Given the description of an element on the screen output the (x, y) to click on. 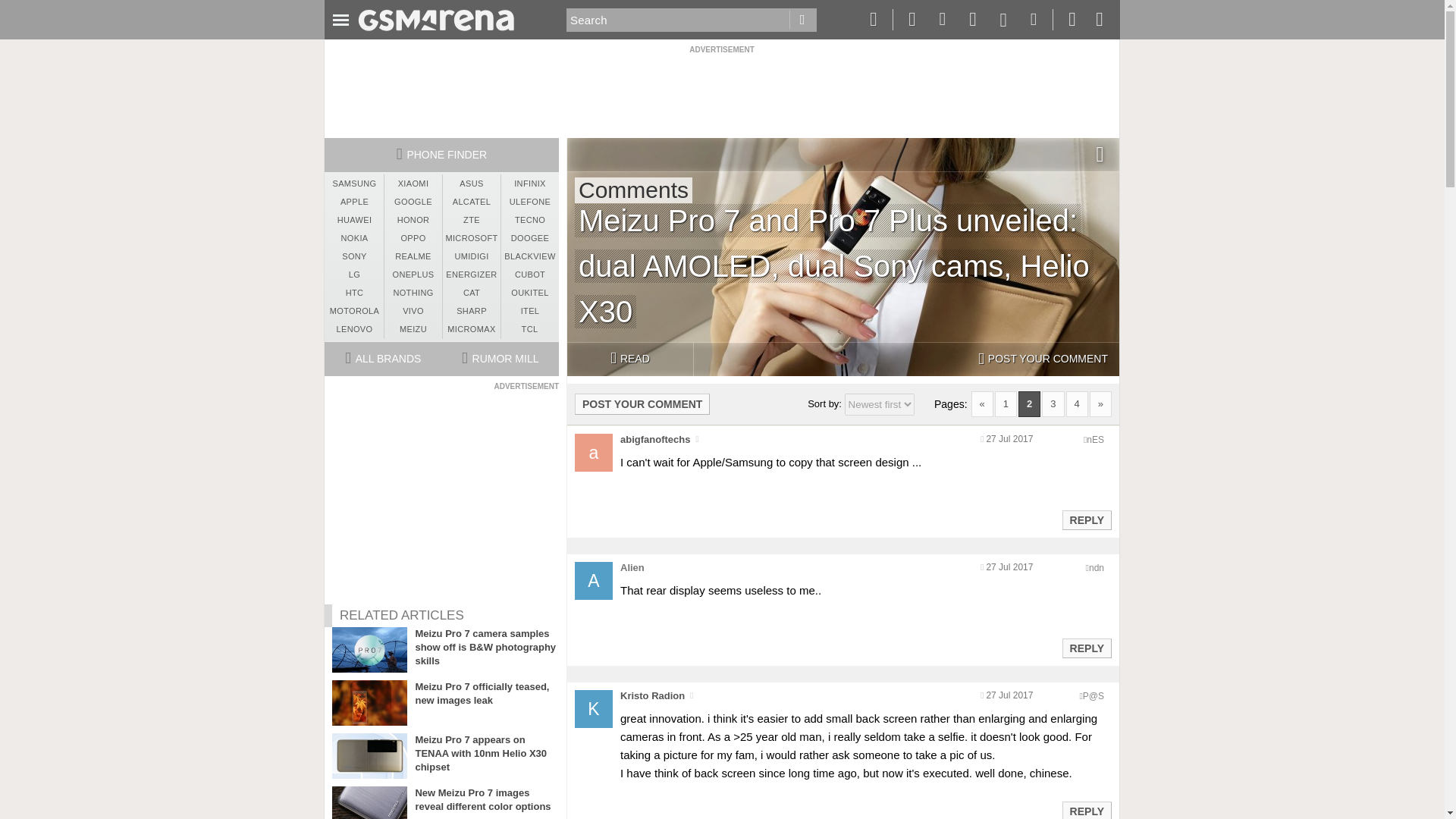
Encoded anonymized location (1096, 567)
POST YOUR COMMENT (1042, 359)
Go (802, 19)
Reply to this post (1086, 520)
Encoded anonymized location (1093, 696)
Reply to this post (1086, 648)
POST YOUR COMMENT (642, 403)
Reply to this post (1086, 811)
Encoded anonymized location (1094, 439)
abigfanoftechs (655, 439)
